Given the description of an element on the screen output the (x, y) to click on. 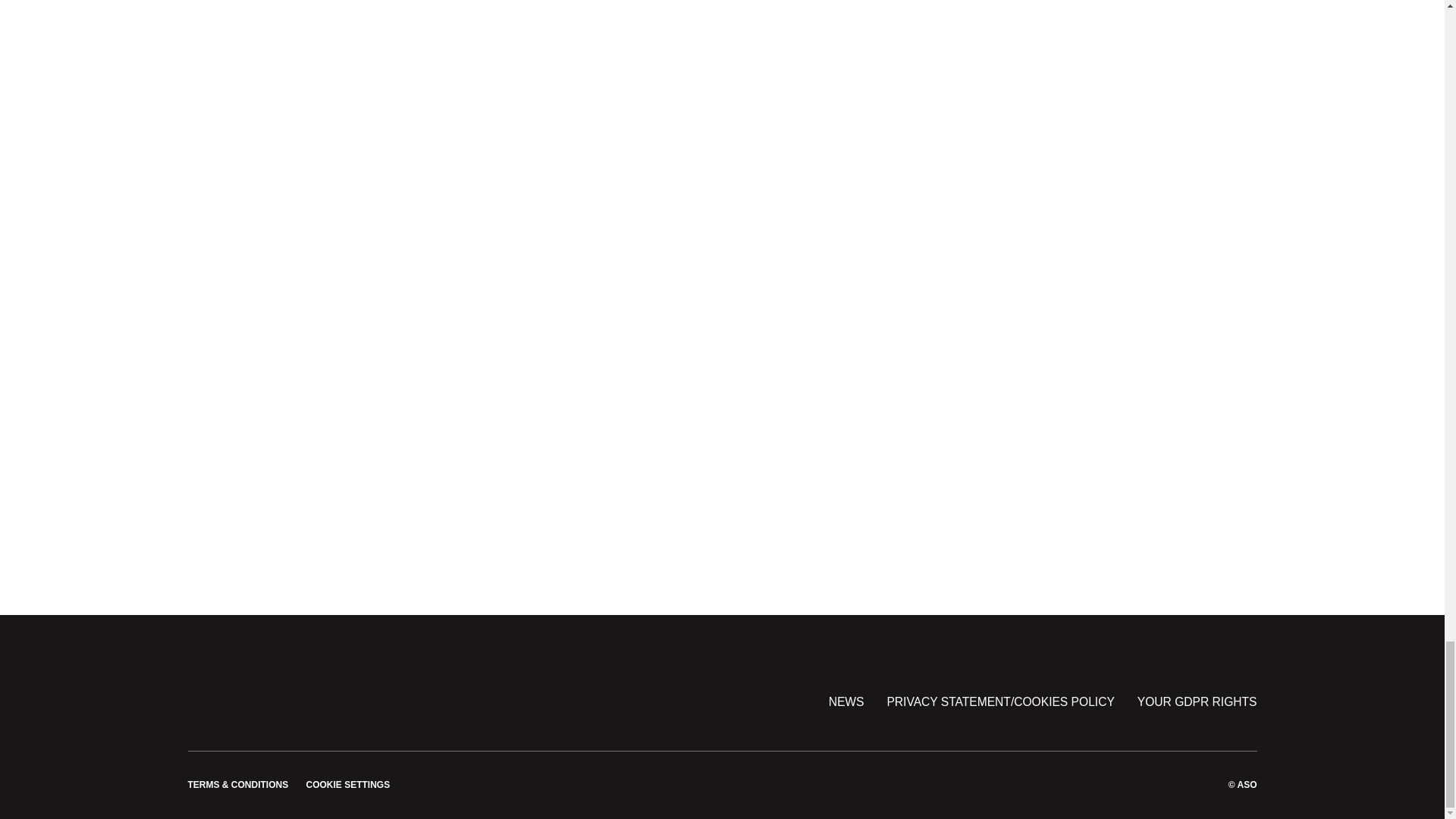
YOUR GDPR RIGHTS (1197, 701)
COOKIE SETTINGS (347, 784)
NEWS (846, 701)
